Given the description of an element on the screen output the (x, y) to click on. 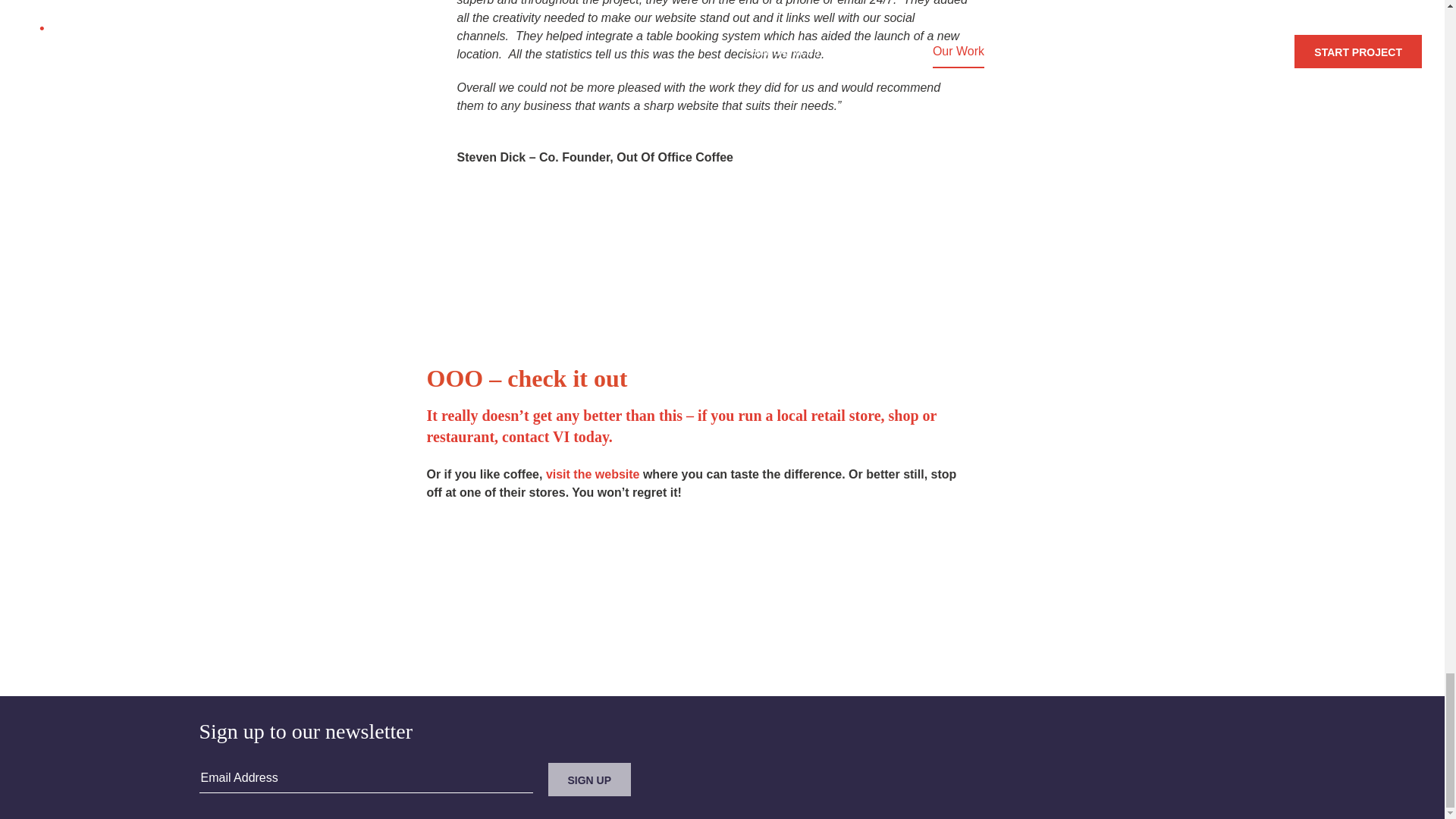
Sign up (588, 779)
visit the website (593, 473)
Sign up (588, 779)
